Given the description of an element on the screen output the (x, y) to click on. 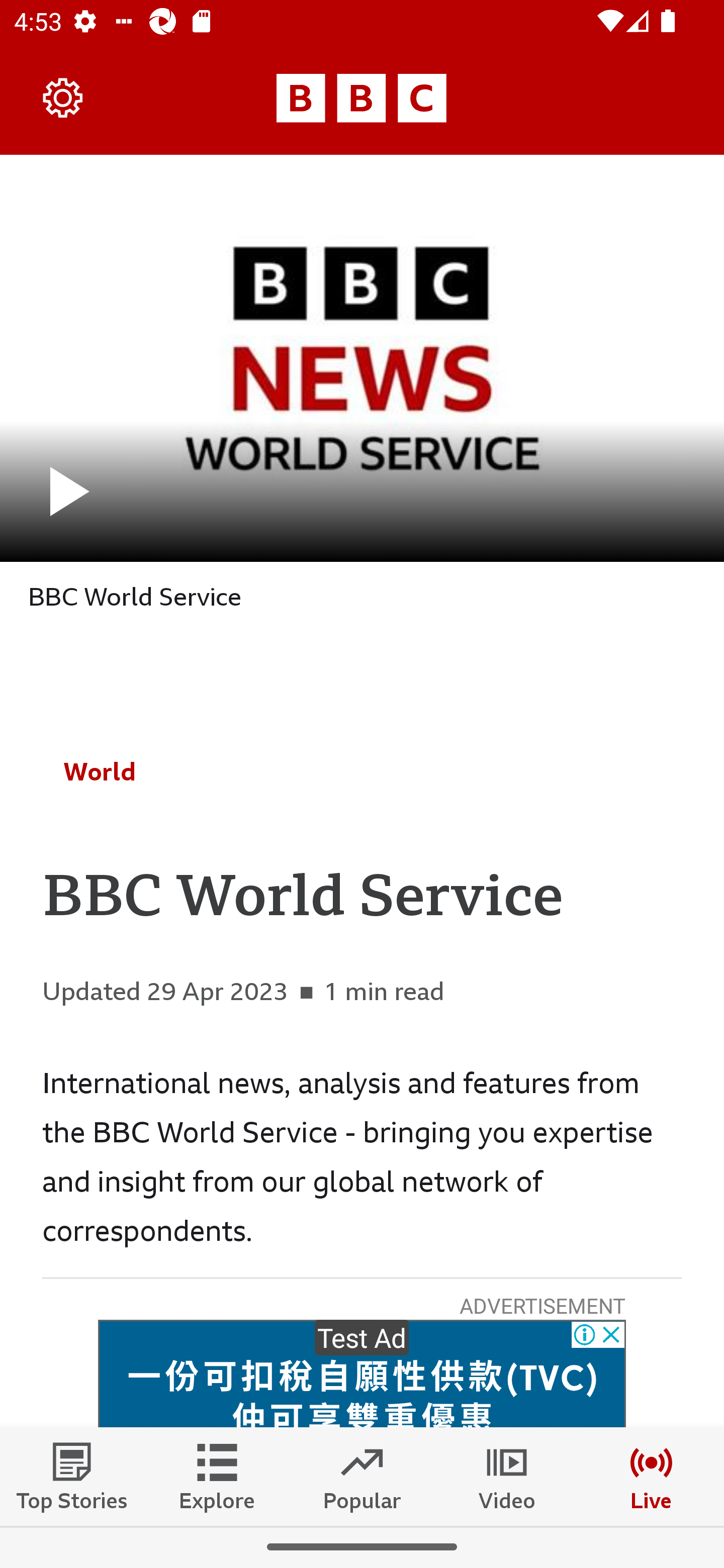
Settings (63, 97)
play fullscreen (362, 358)
World (99, 771)
Fidelity javascript:window.open(window (361, 1373)
Top Stories (72, 1475)
Explore (216, 1475)
Popular (361, 1475)
Video (506, 1475)
